Given the description of an element on the screen output the (x, y) to click on. 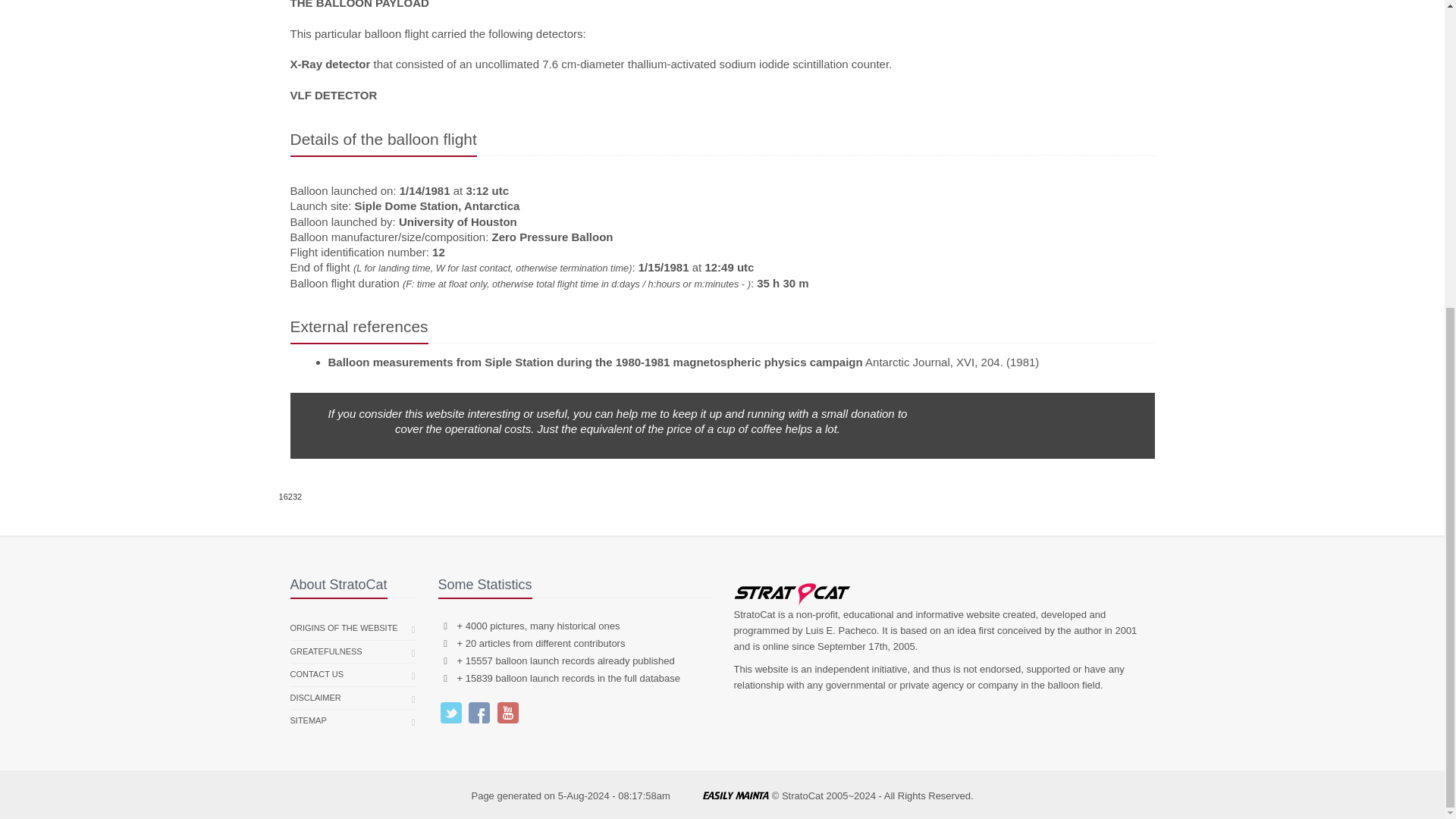
GREATEFULNESS (325, 651)
ORIGINS OF THE WEBSITE (343, 628)
DISCLAIMER (314, 698)
SITEMAP (307, 721)
CONTACT US (316, 674)
